Given the description of an element on the screen output the (x, y) to click on. 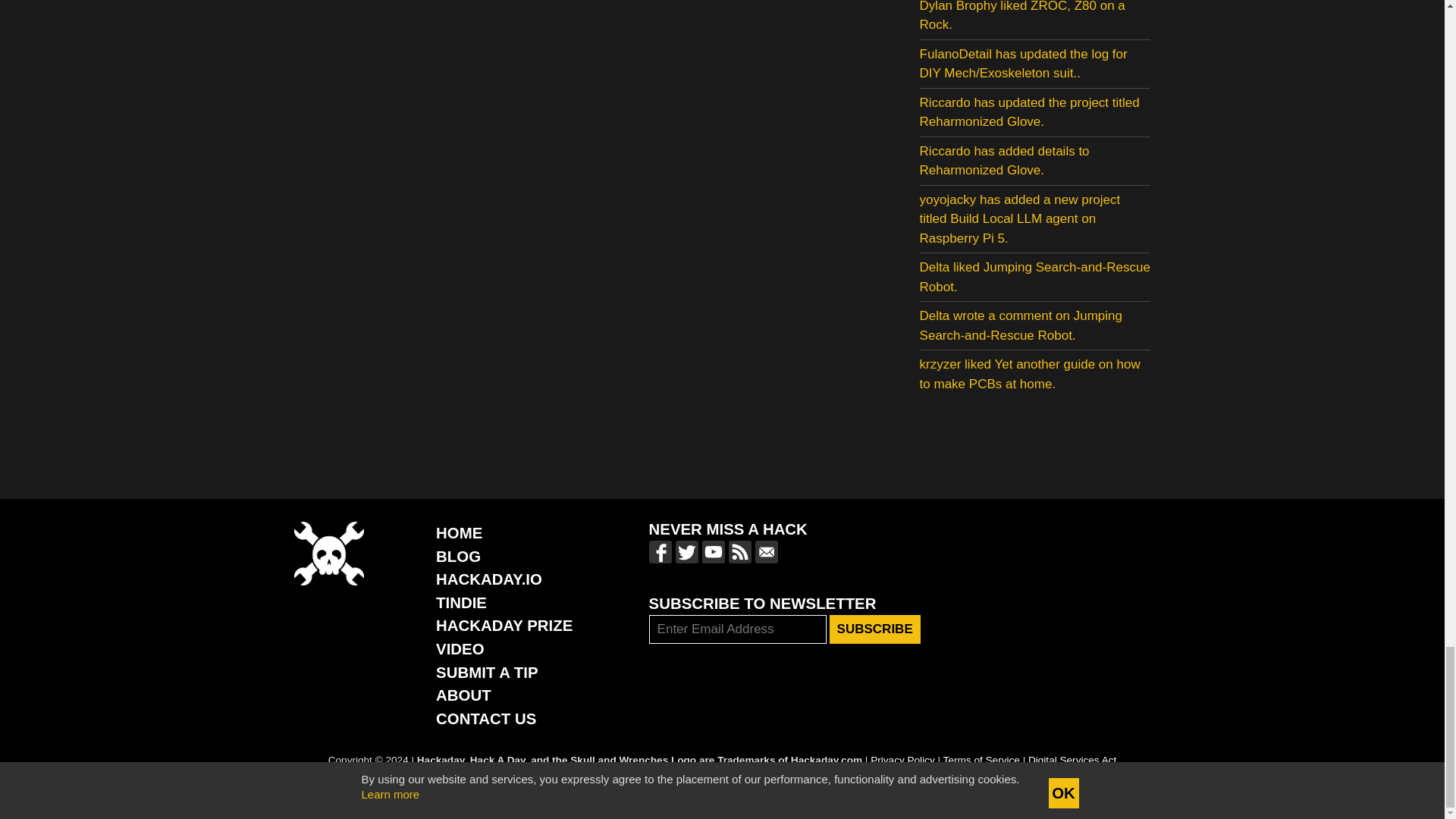
Build Something that Matters (503, 625)
Subscribe (874, 629)
